Given the description of an element on the screen output the (x, y) to click on. 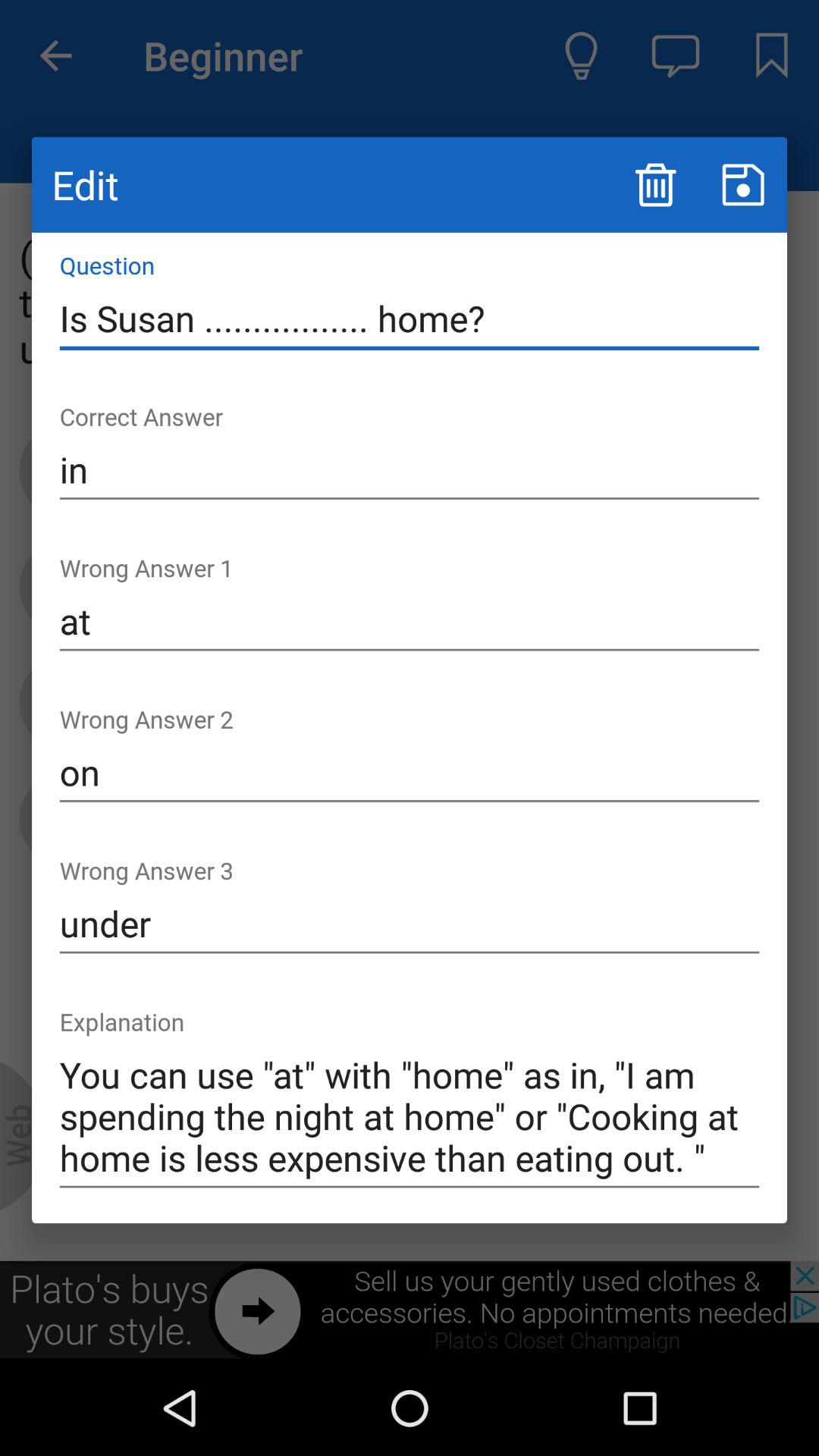
launch the on item (409, 772)
